Given the description of an element on the screen output the (x, y) to click on. 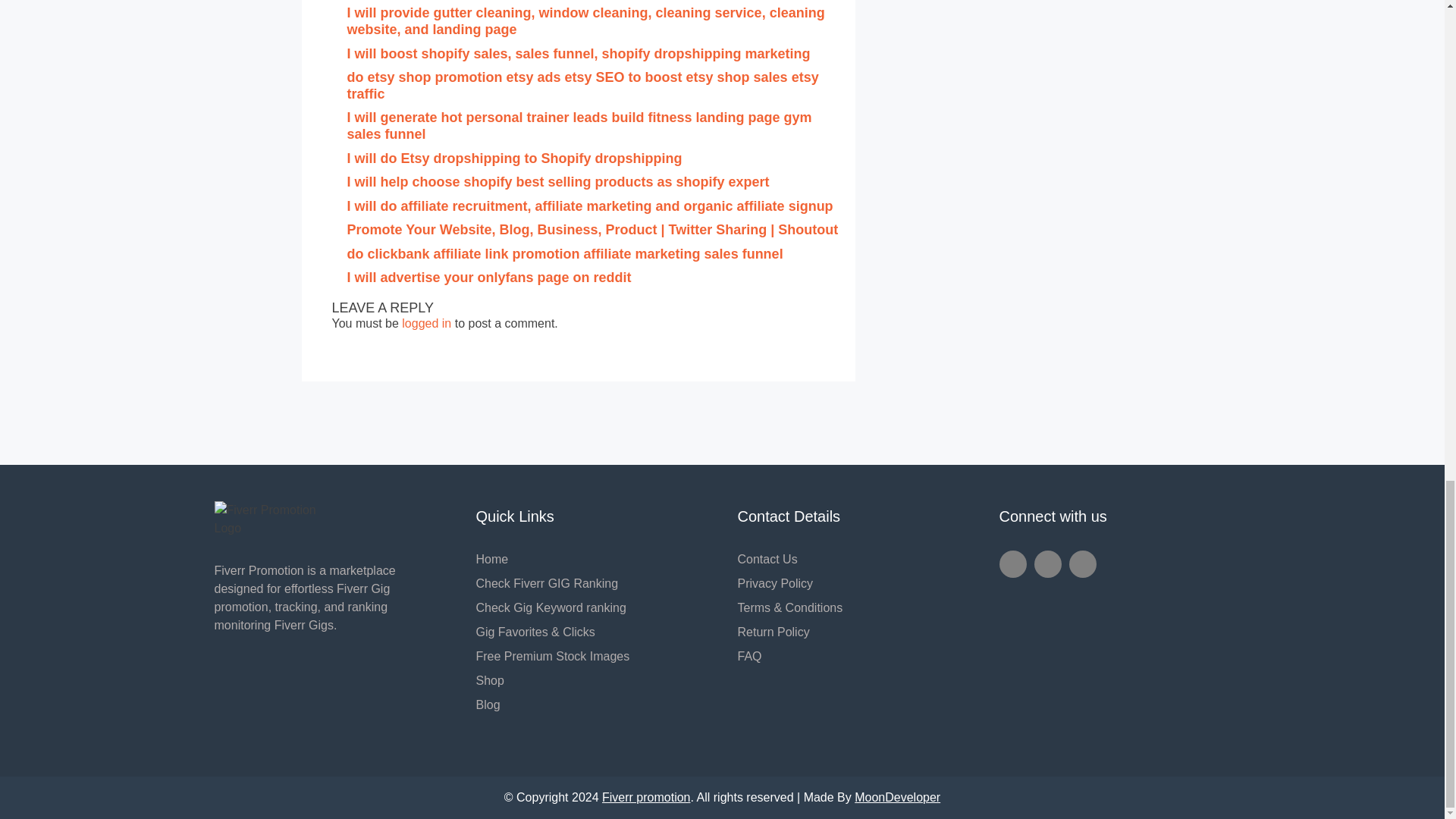
I will do Etsy dropshipping to Shopify dropshipping (514, 158)
I will advertise your onlyfans page on reddit (489, 277)
